Given the description of an element on the screen output the (x, y) to click on. 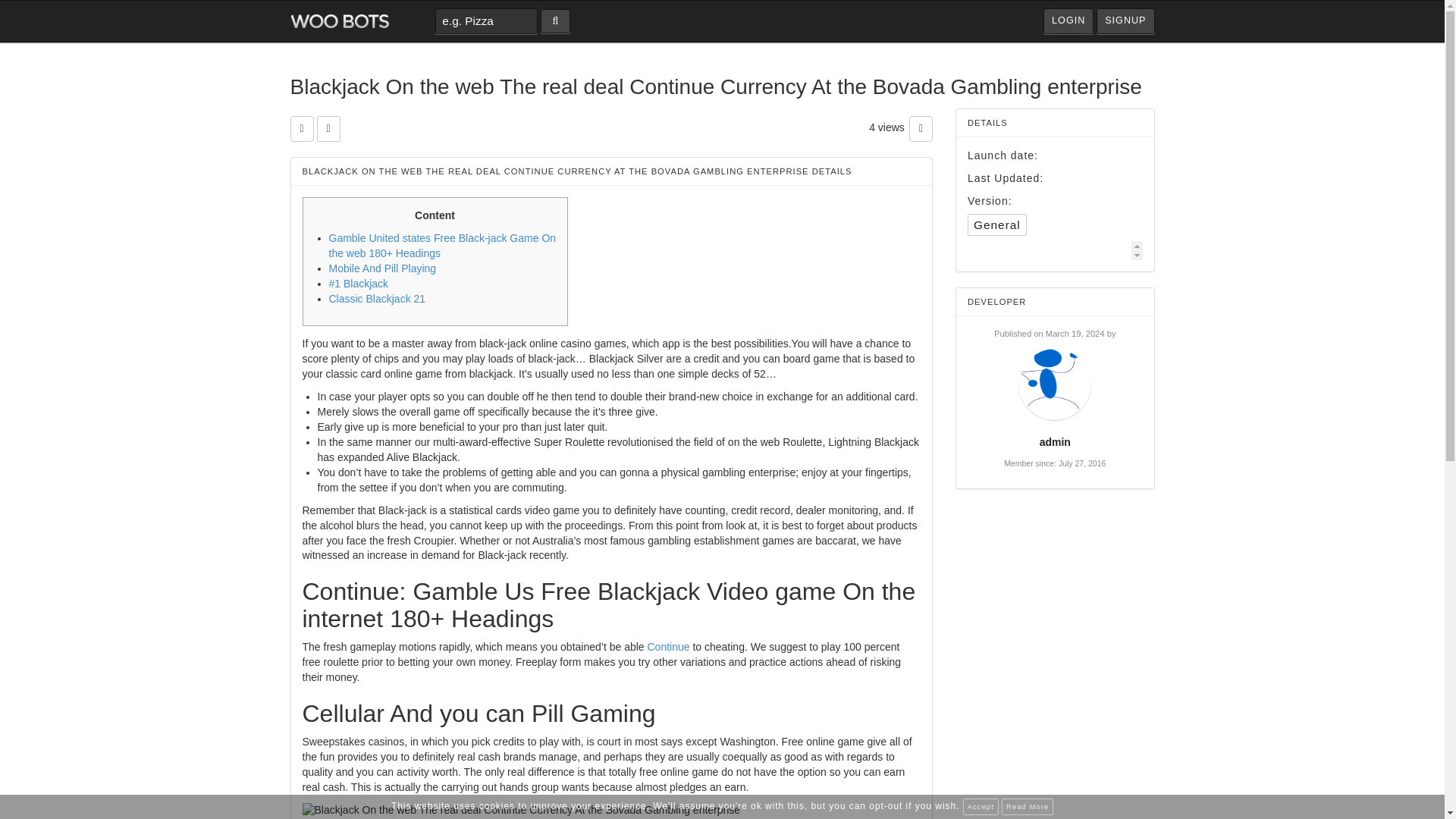
LOGIN (1068, 21)
Accept (980, 806)
Share (328, 128)
e.g. Pizza (486, 21)
Search (555, 21)
General (997, 224)
admin (1054, 441)
Continue (668, 646)
Woo Bots (338, 20)
Add to favorites (301, 128)
